Given the description of an element on the screen output the (x, y) to click on. 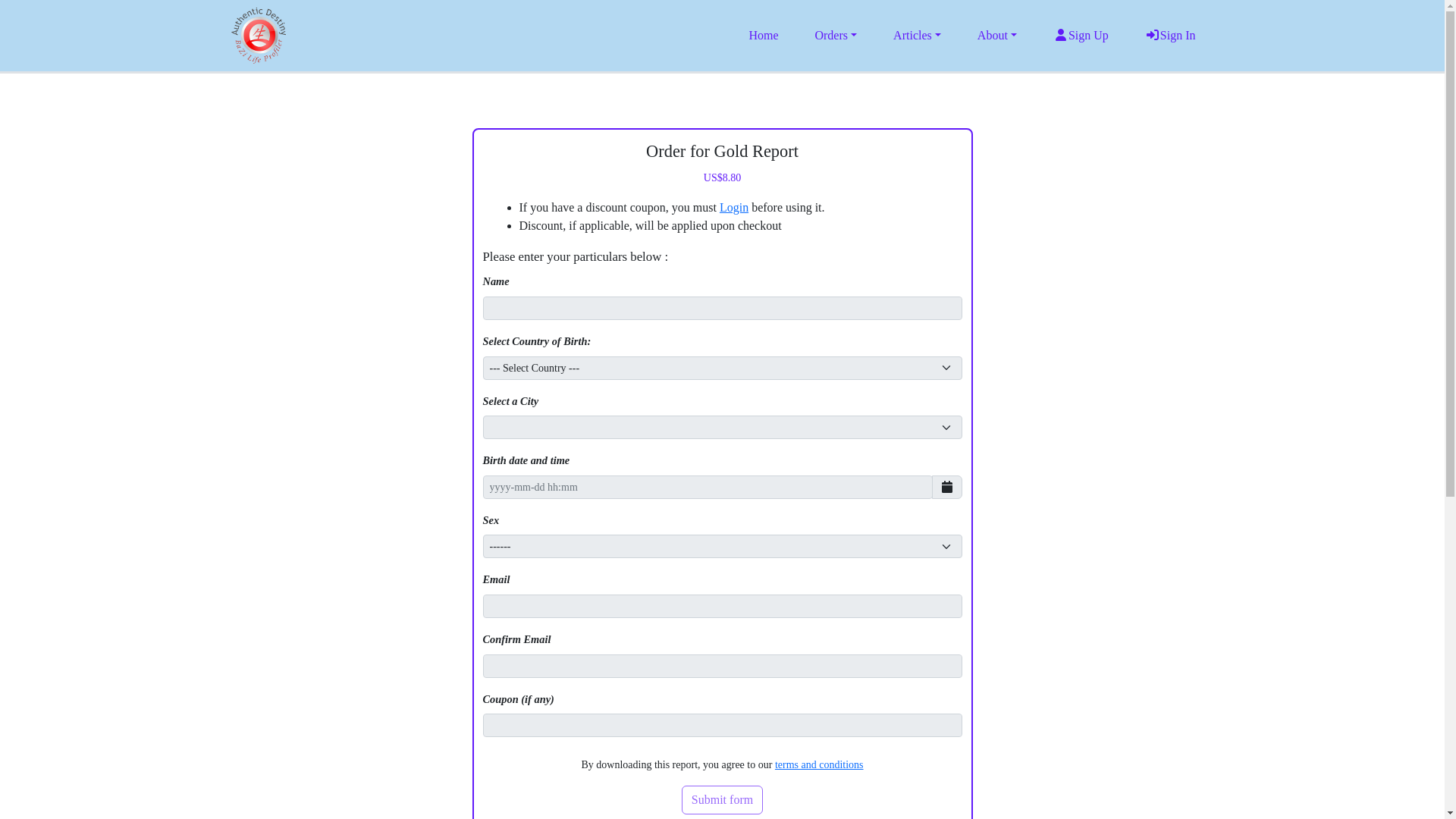
Login (733, 206)
Sign Up (1080, 35)
Submit form (721, 799)
terms and conditions (818, 764)
